Given the description of an element on the screen output the (x, y) to click on. 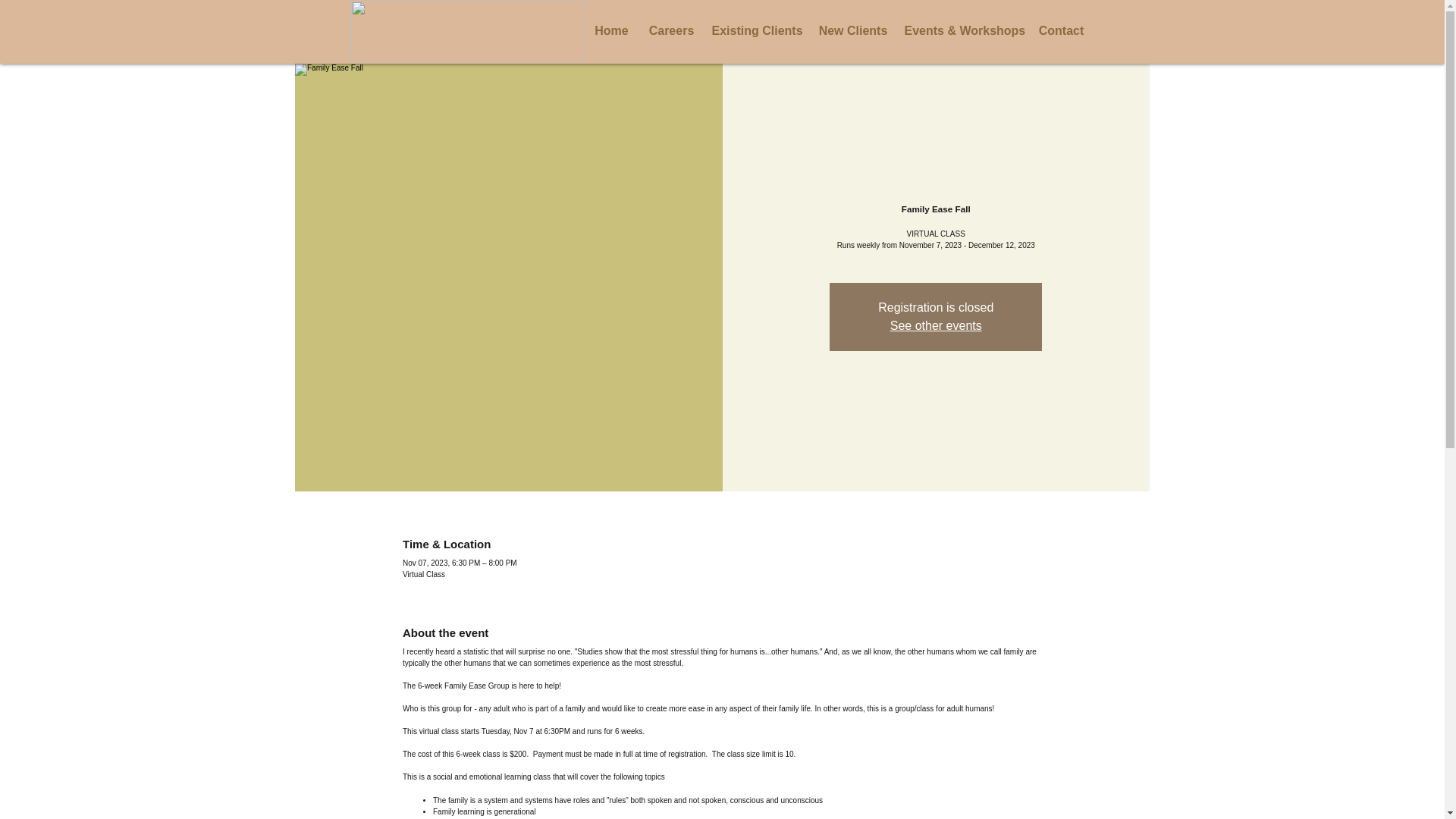
Contact (1061, 31)
Existing Clients (756, 31)
See other events (935, 325)
New Clients (852, 31)
Home (611, 31)
Careers (671, 31)
